Given the description of an element on the screen output the (x, y) to click on. 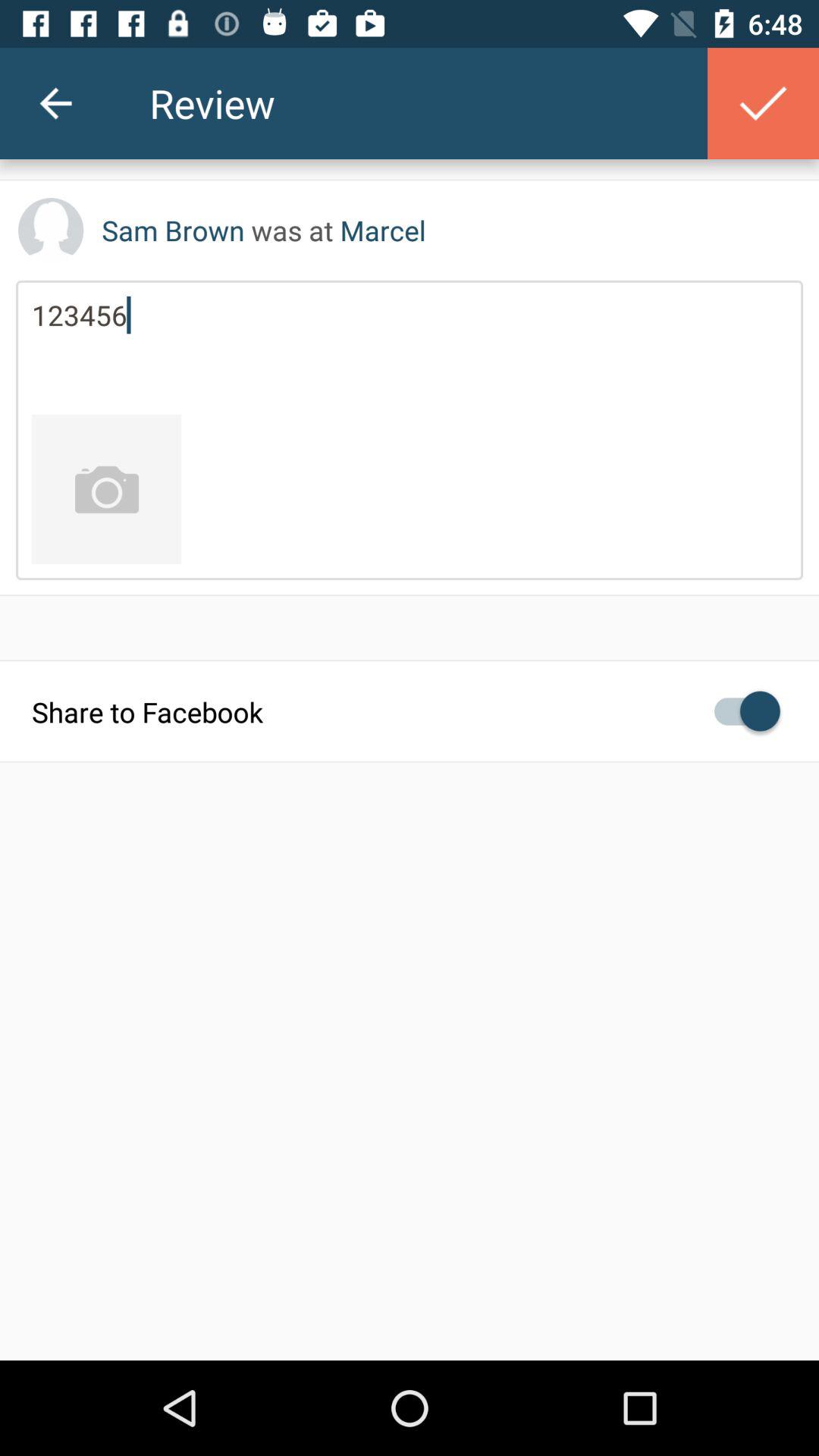
press the icon above the sam brown was icon (763, 103)
